Given the description of an element on the screen output the (x, y) to click on. 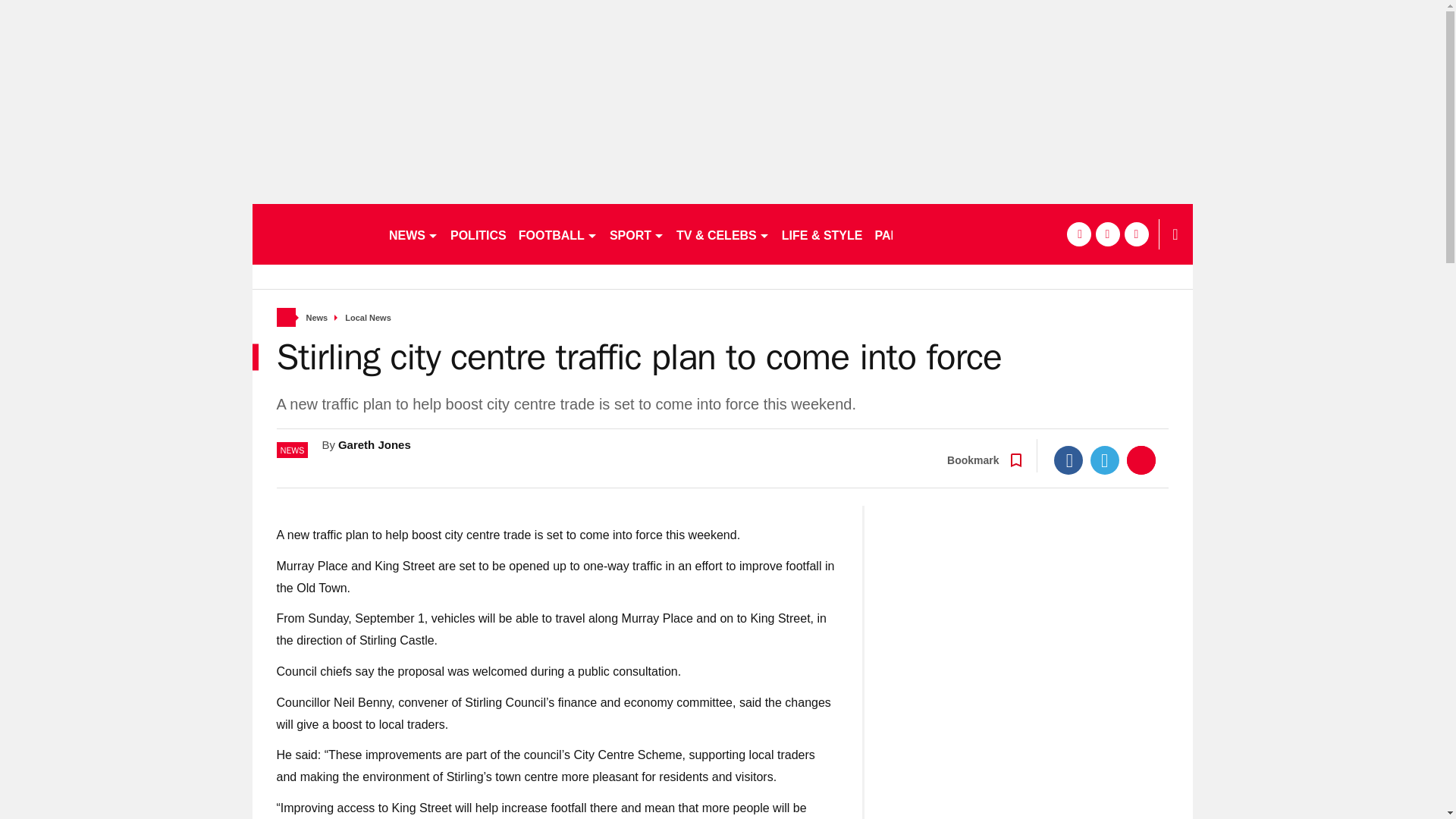
SPORT (636, 233)
FOOTBALL (558, 233)
dailyrecord (313, 233)
POLITICS (478, 233)
Twitter (1104, 460)
Facebook (1068, 460)
facebook (1077, 233)
instagram (1136, 233)
NEWS (413, 233)
twitter (1106, 233)
